Given the description of an element on the screen output the (x, y) to click on. 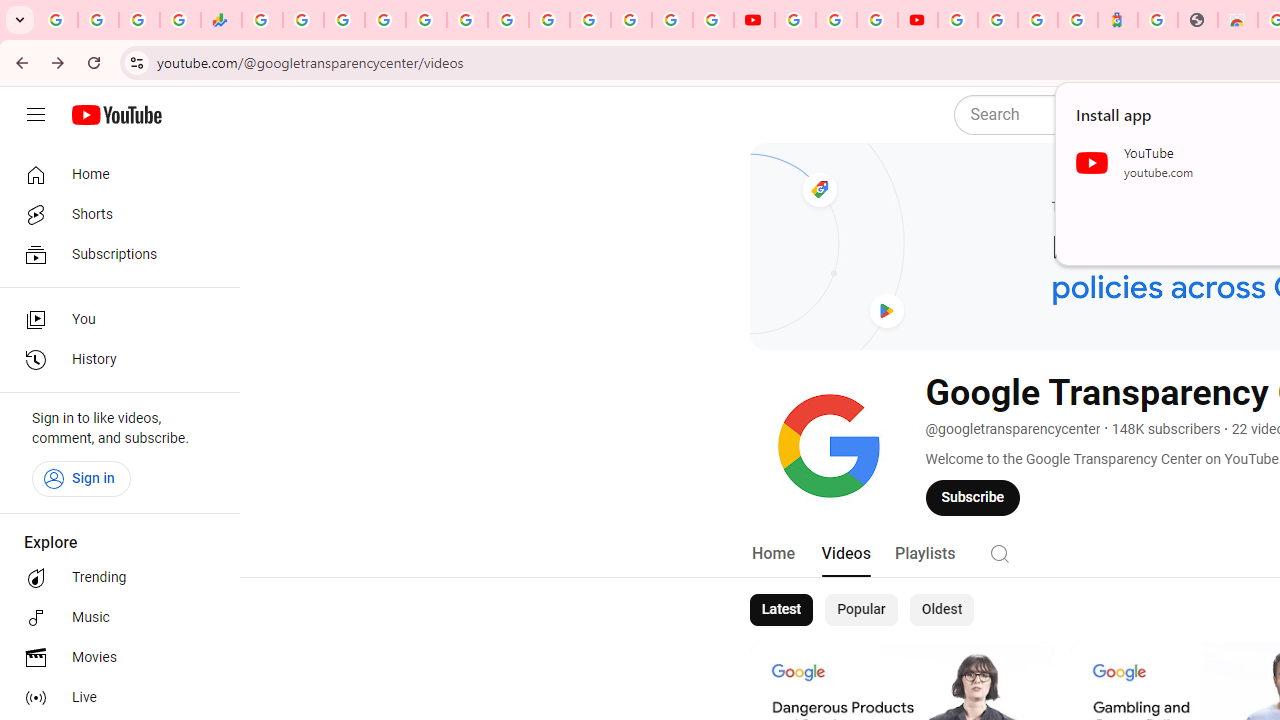
History (113, 359)
Videos (845, 553)
Latest (780, 609)
Search (999, 552)
Google Account Help (836, 20)
